Given the description of an element on the screen output the (x, y) to click on. 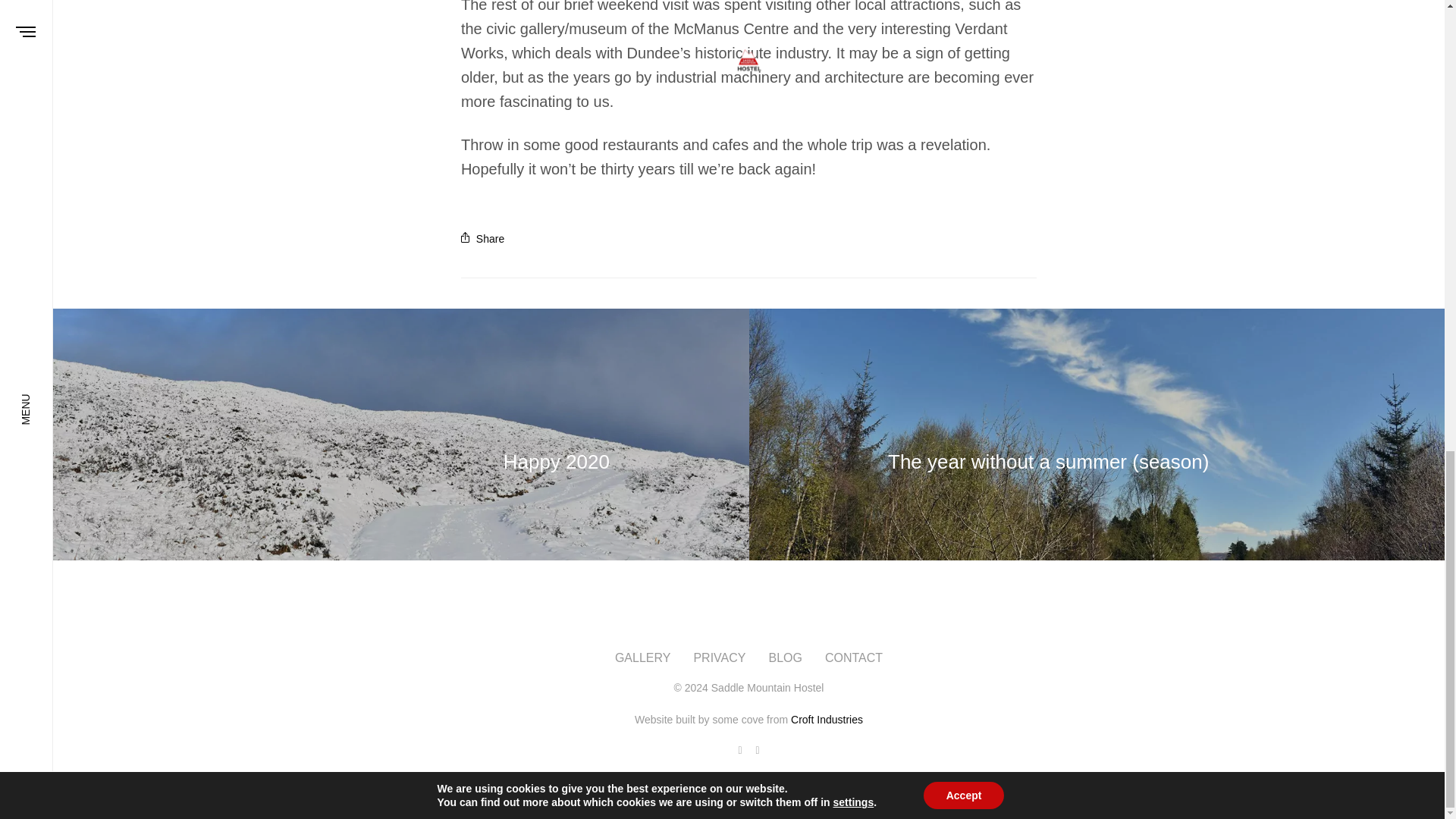
PRIVACY (719, 657)
BLOG (785, 657)
CONTACT (853, 657)
Share (482, 238)
GALLERY (642, 657)
Croft Industries (826, 719)
